Given the description of an element on the screen output the (x, y) to click on. 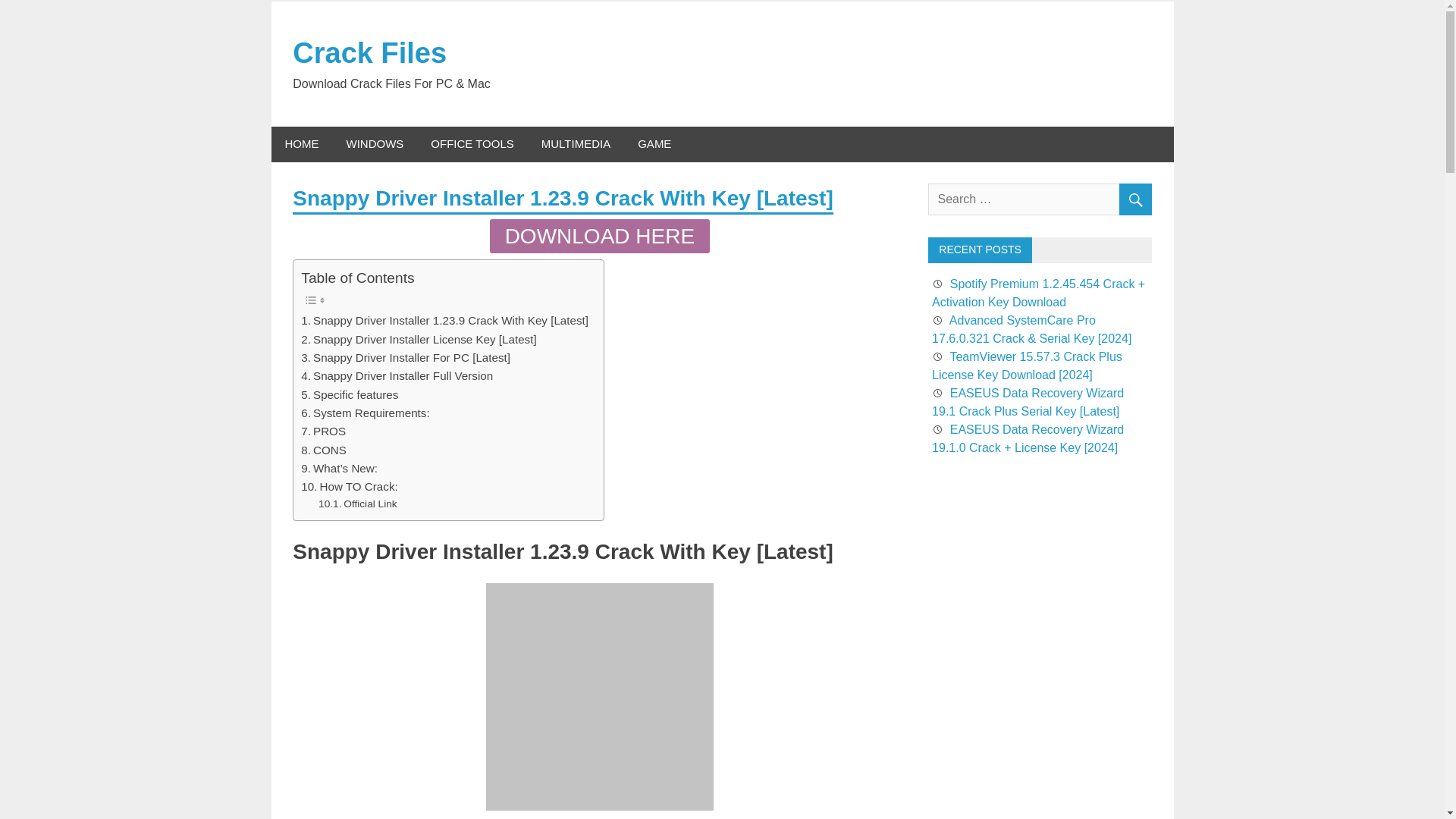
MULTIMEDIA (575, 144)
Specific features (349, 394)
GAME (654, 144)
How TO Crack: (349, 486)
PROS (323, 431)
PROS (323, 431)
CONS (323, 450)
DOWNLOAD HERE (599, 236)
System Requirements: (365, 413)
WINDOWS (373, 144)
